Given the description of an element on the screen output the (x, y) to click on. 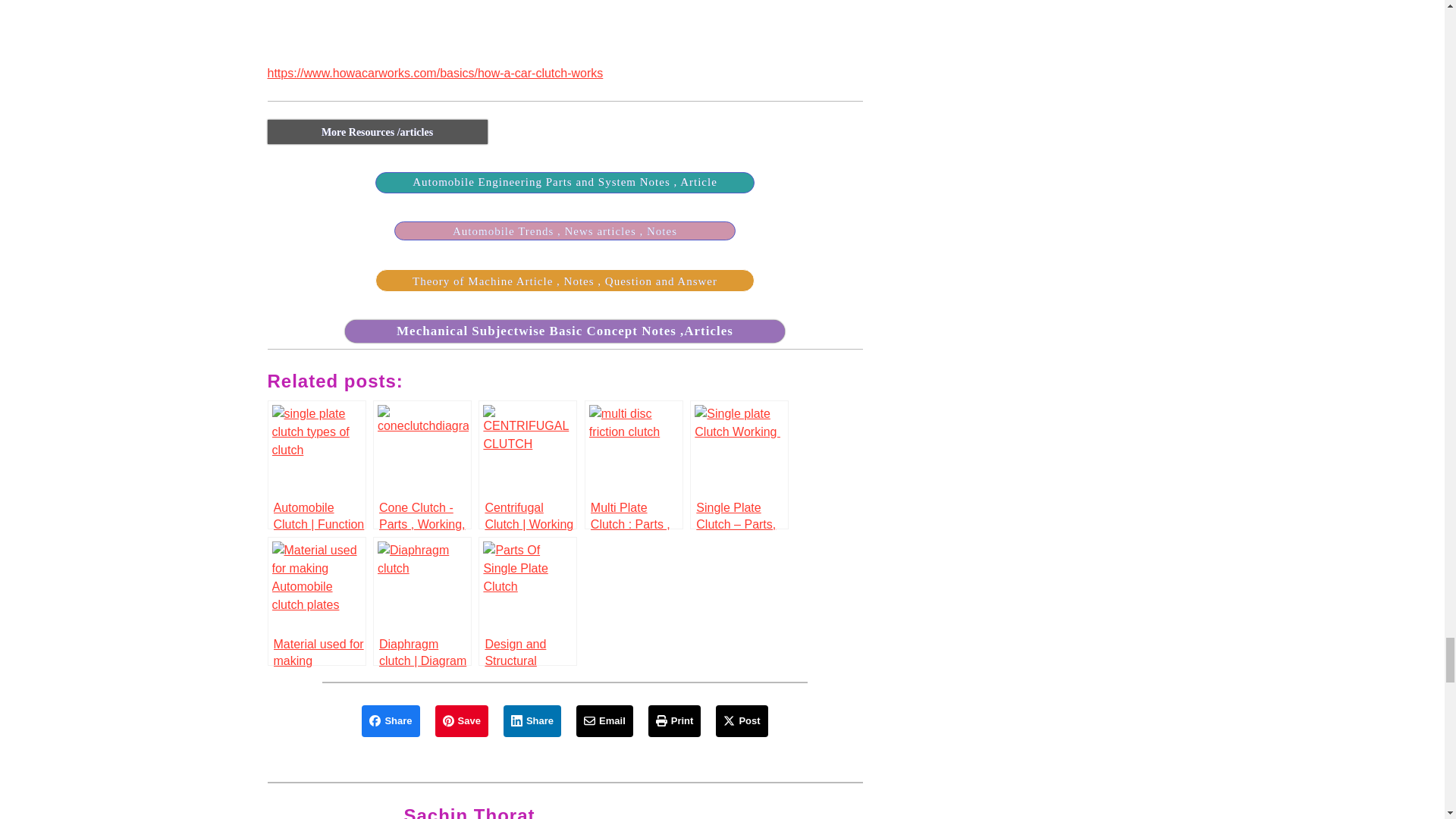
Automobile Engineering Parts and System Notes , Article (564, 182)
Automobile Trends , News articles , Notes (564, 230)
